Given the description of an element on the screen output the (x, y) to click on. 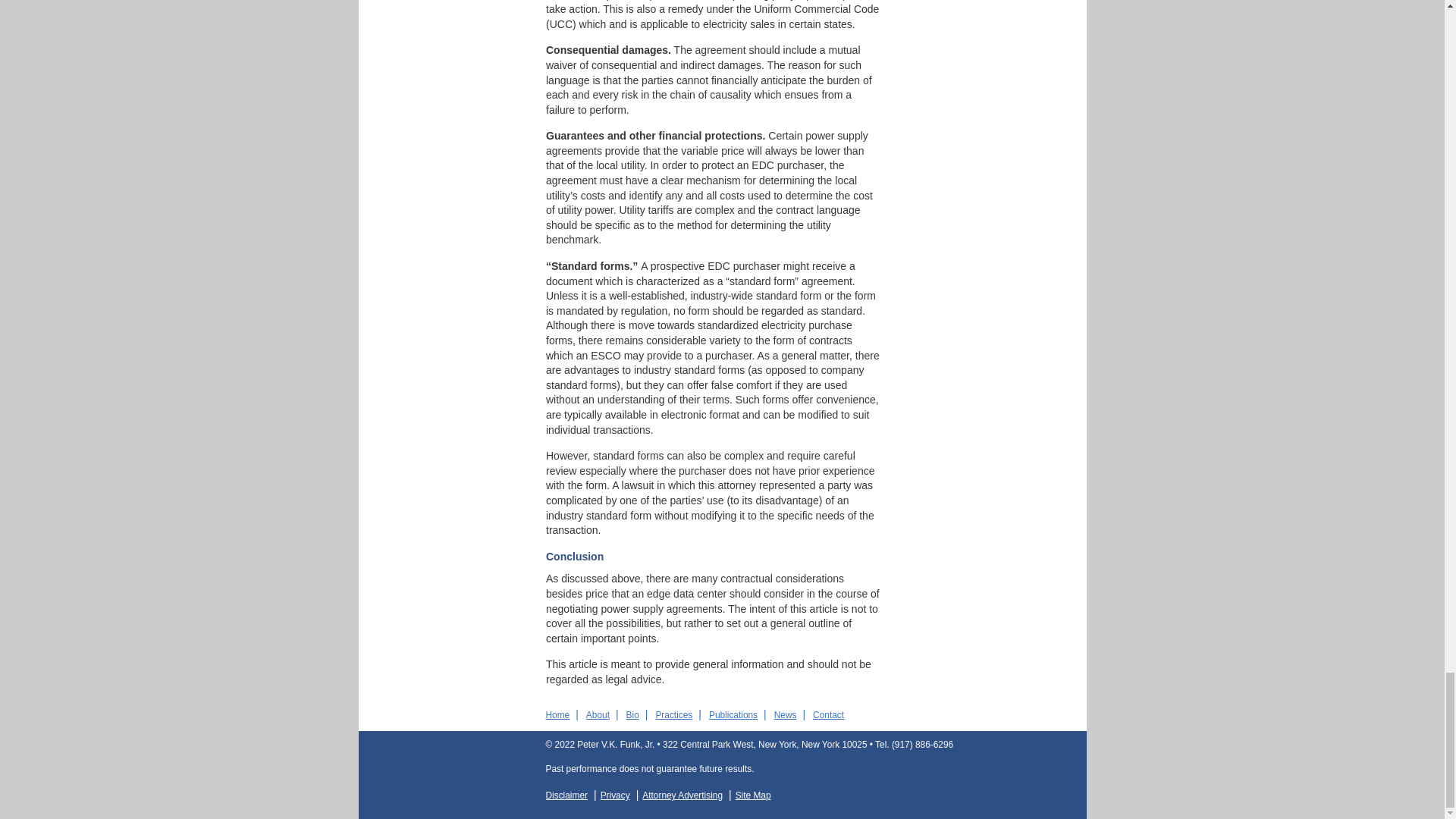
Home (558, 715)
News (785, 715)
About (598, 715)
Publications (733, 715)
Bio (632, 715)
Contact (828, 715)
Practices (674, 715)
